Given the description of an element on the screen output the (x, y) to click on. 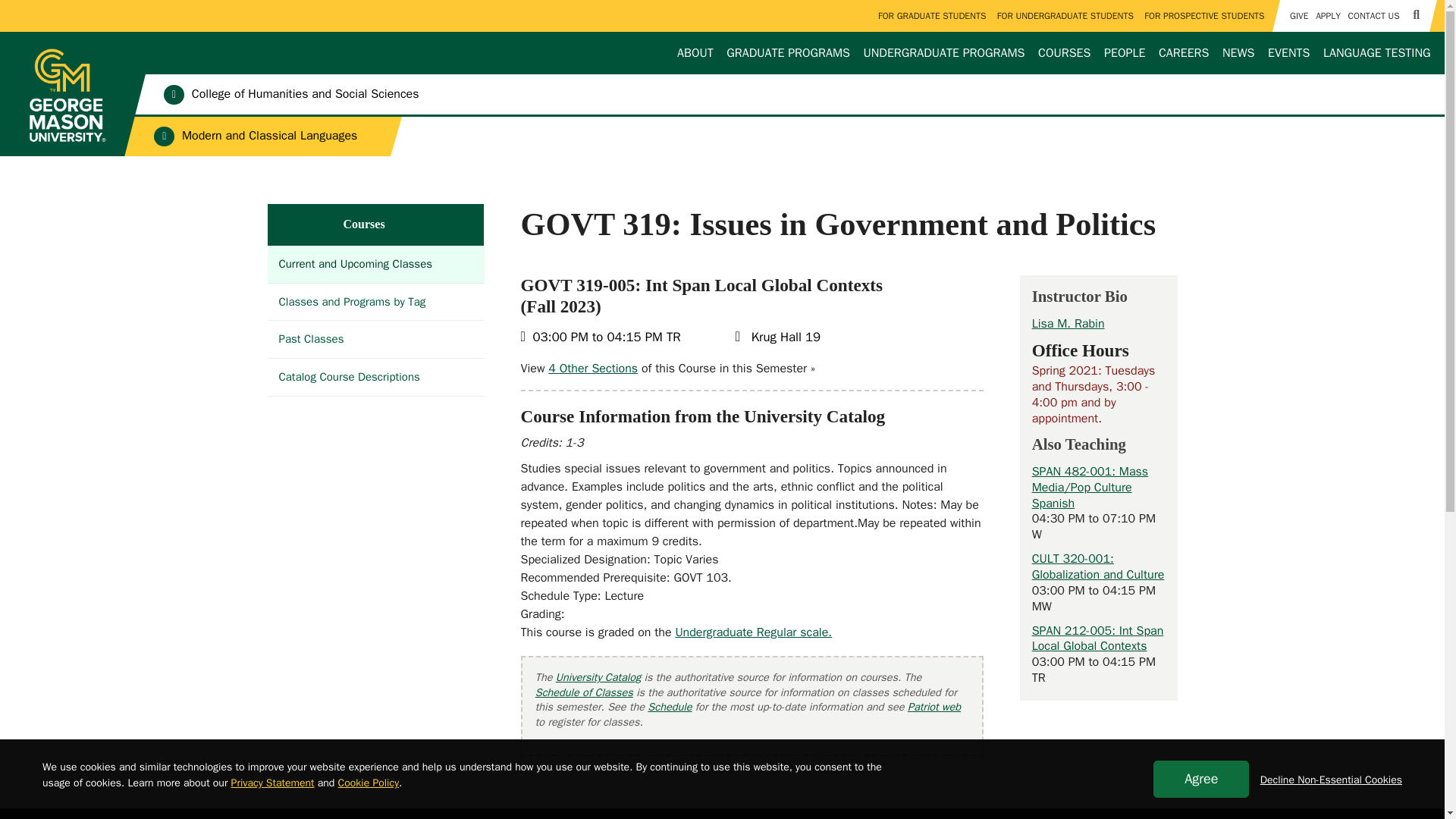
GRADUATE PROGRAMS (789, 52)
People (1124, 52)
For Undergraduate Students (1064, 15)
Enter search terms (722, 14)
Agree (1201, 778)
Privacy Statement (272, 782)
FOR UNDERGRADUATE STUDENTS (1064, 15)
APPLY (1327, 15)
For Prospective Students (1204, 15)
ABOUT (694, 52)
